Given the description of an element on the screen output the (x, y) to click on. 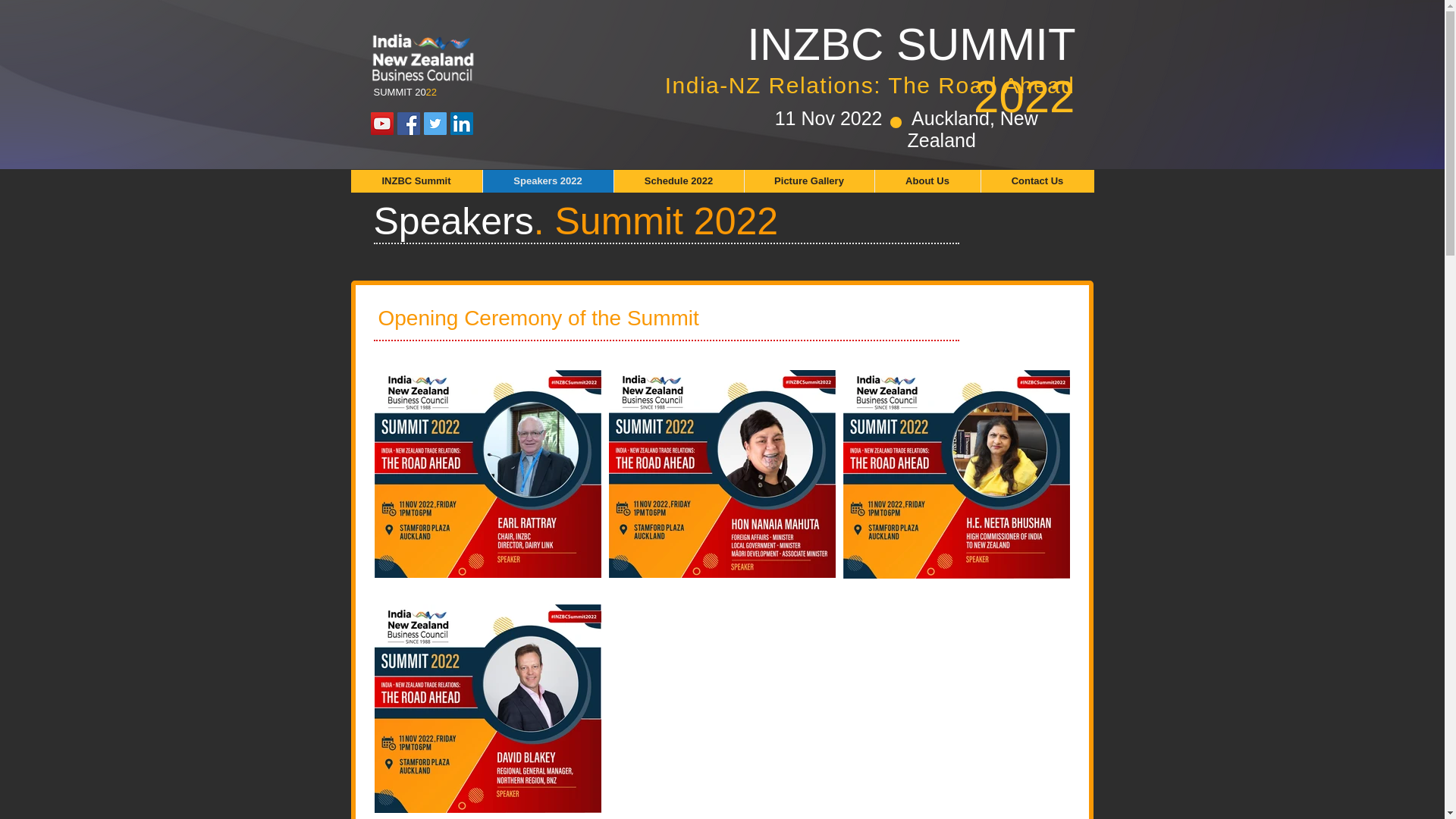
INZBC Summit (415, 180)
About Us (926, 180)
Speakers 2022 (546, 180)
Contact Us (1036, 180)
Schedule 2022 (677, 180)
